Given the description of an element on the screen output the (x, y) to click on. 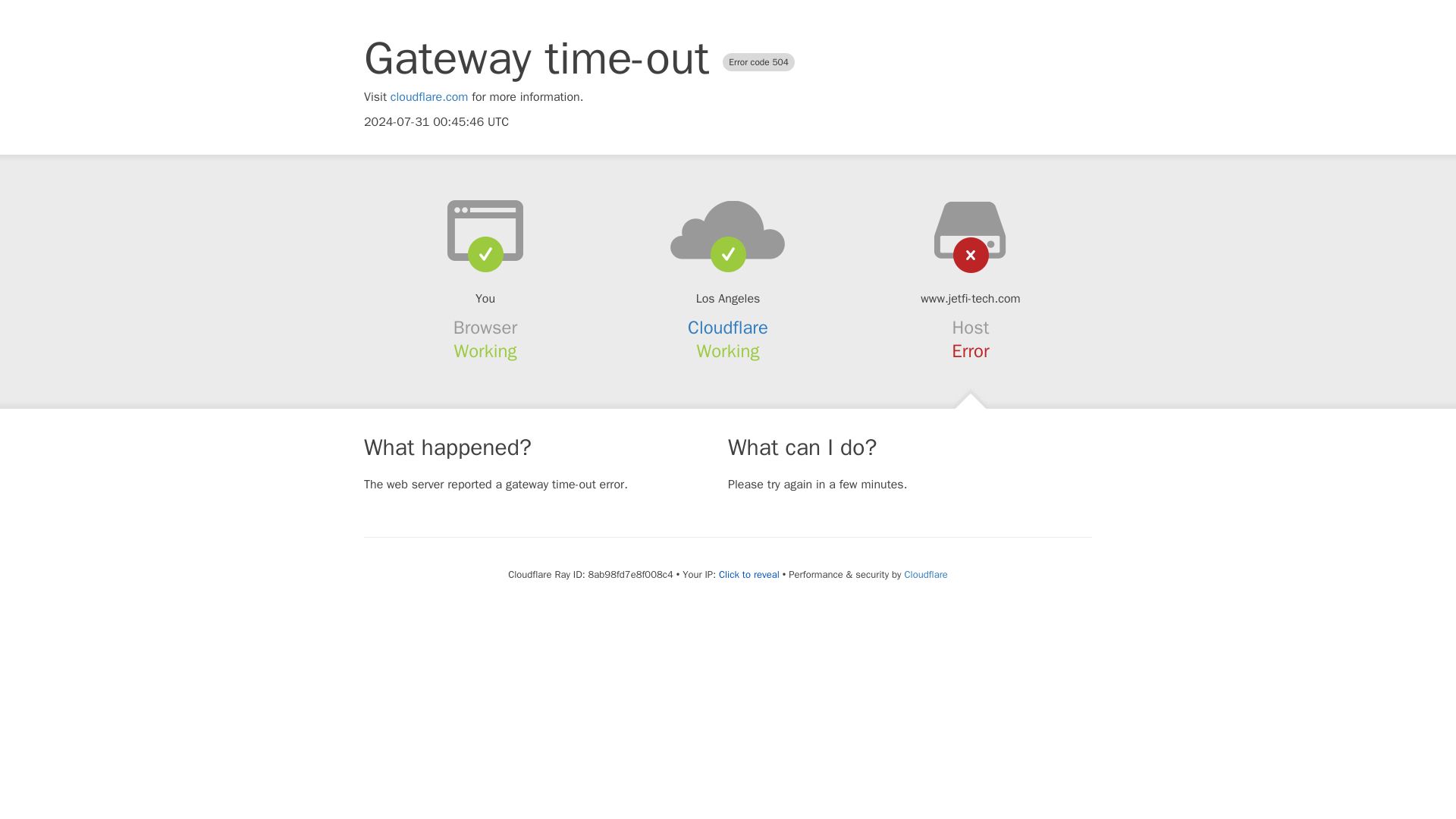
Cloudflare (925, 574)
Click to reveal (748, 574)
Cloudflare (727, 327)
cloudflare.com (429, 96)
